Given the description of an element on the screen output the (x, y) to click on. 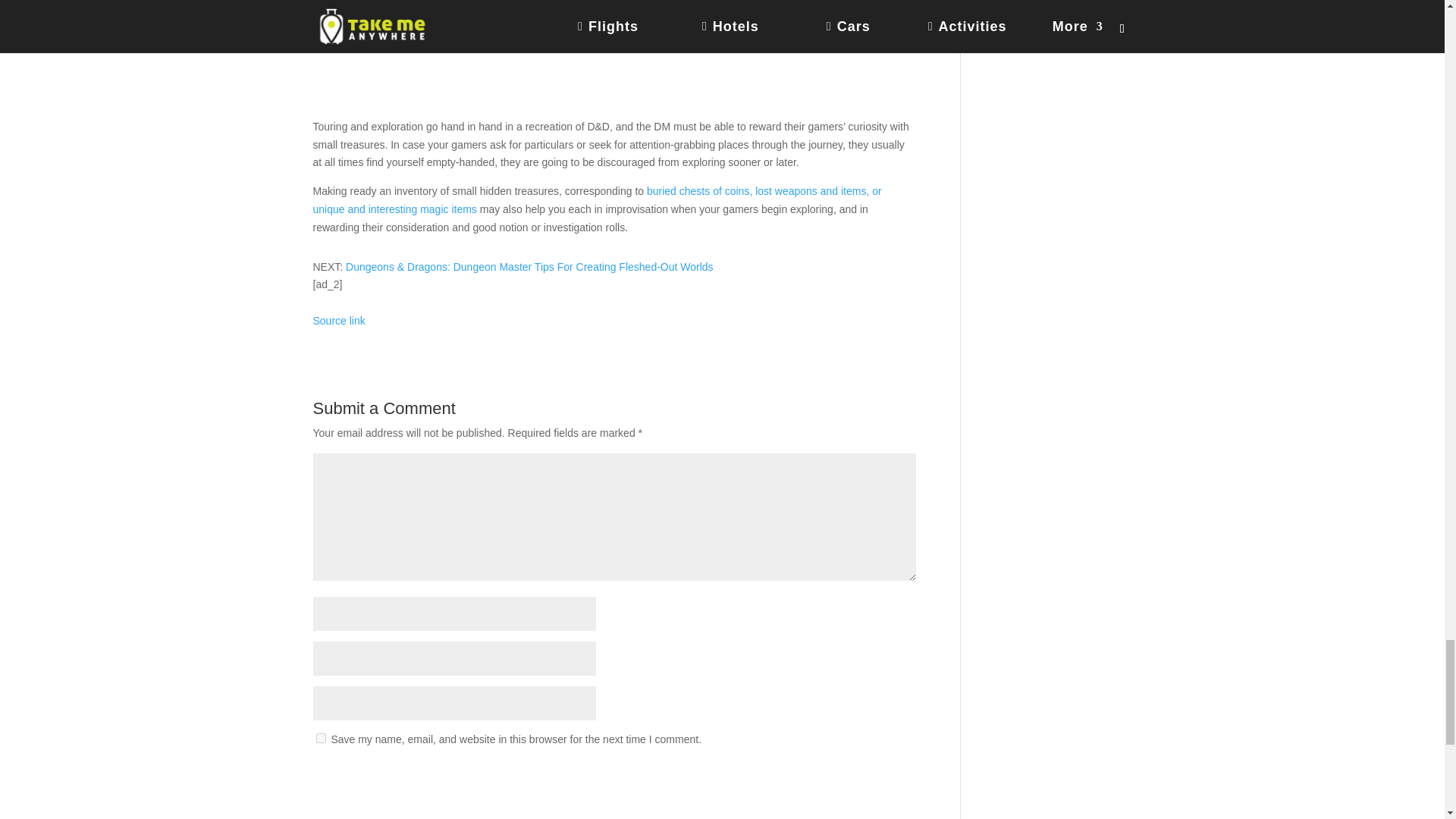
yes (319, 737)
Source link (339, 320)
Submit Comment (840, 778)
Submit Comment (840, 778)
